Given the description of an element on the screen output the (x, y) to click on. 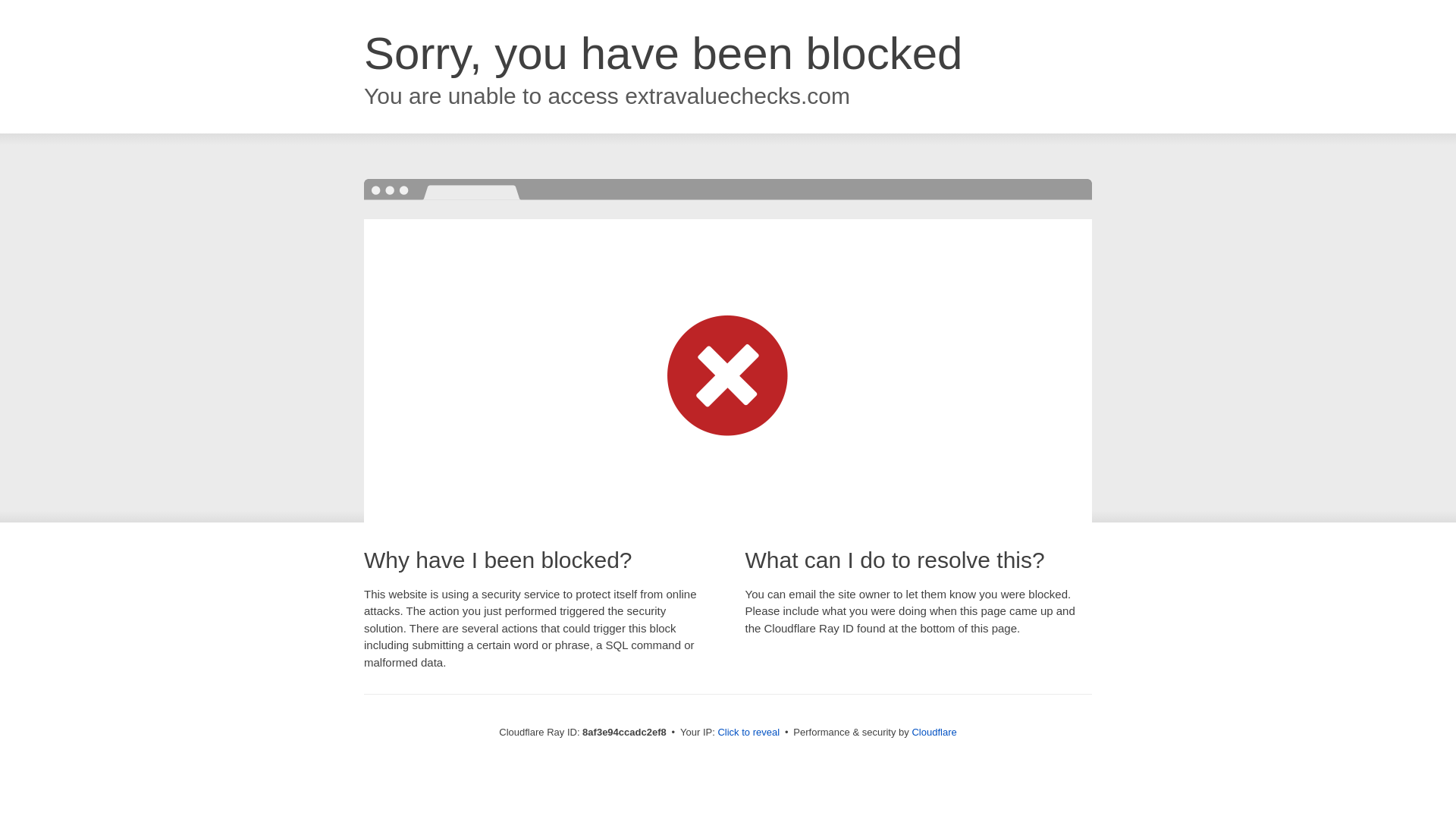
Cloudflare (933, 731)
Click to reveal (747, 732)
